Given the description of an element on the screen output the (x, y) to click on. 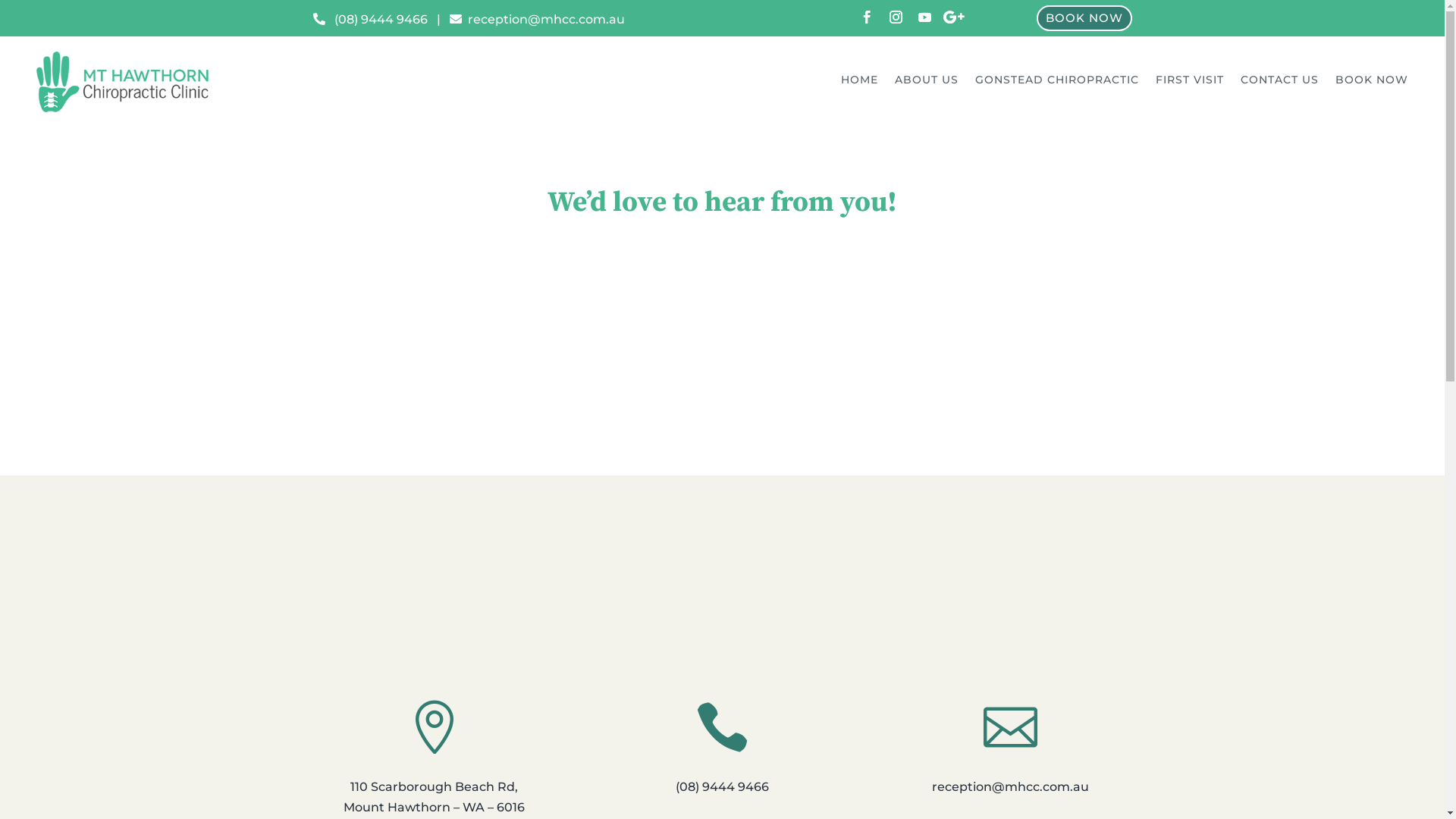
Follow on Youtube Element type: hover (924, 17)
CONTACT US Element type: text (1279, 82)
HOME Element type: text (859, 82)
FIRST VISIT Element type: text (1189, 82)
Follow on Instagram Element type: hover (895, 17)
GONSTEAD CHIROPRACTIC Element type: text (1057, 82)
  (08) 9444 9466 Element type: text (369, 19)
ABOUT US Element type: text (926, 82)
  reception@mhcc.com.au Element type: text (536, 19)
logo3 Element type: hover (122, 81)
Follow on Google+ Element type: hover (953, 17)
Follow on Facebook Element type: hover (866, 17)
BOOK NOW Element type: text (1083, 18)
BOOK NOW Element type: text (1371, 82)
